Given the description of an element on the screen output the (x, y) to click on. 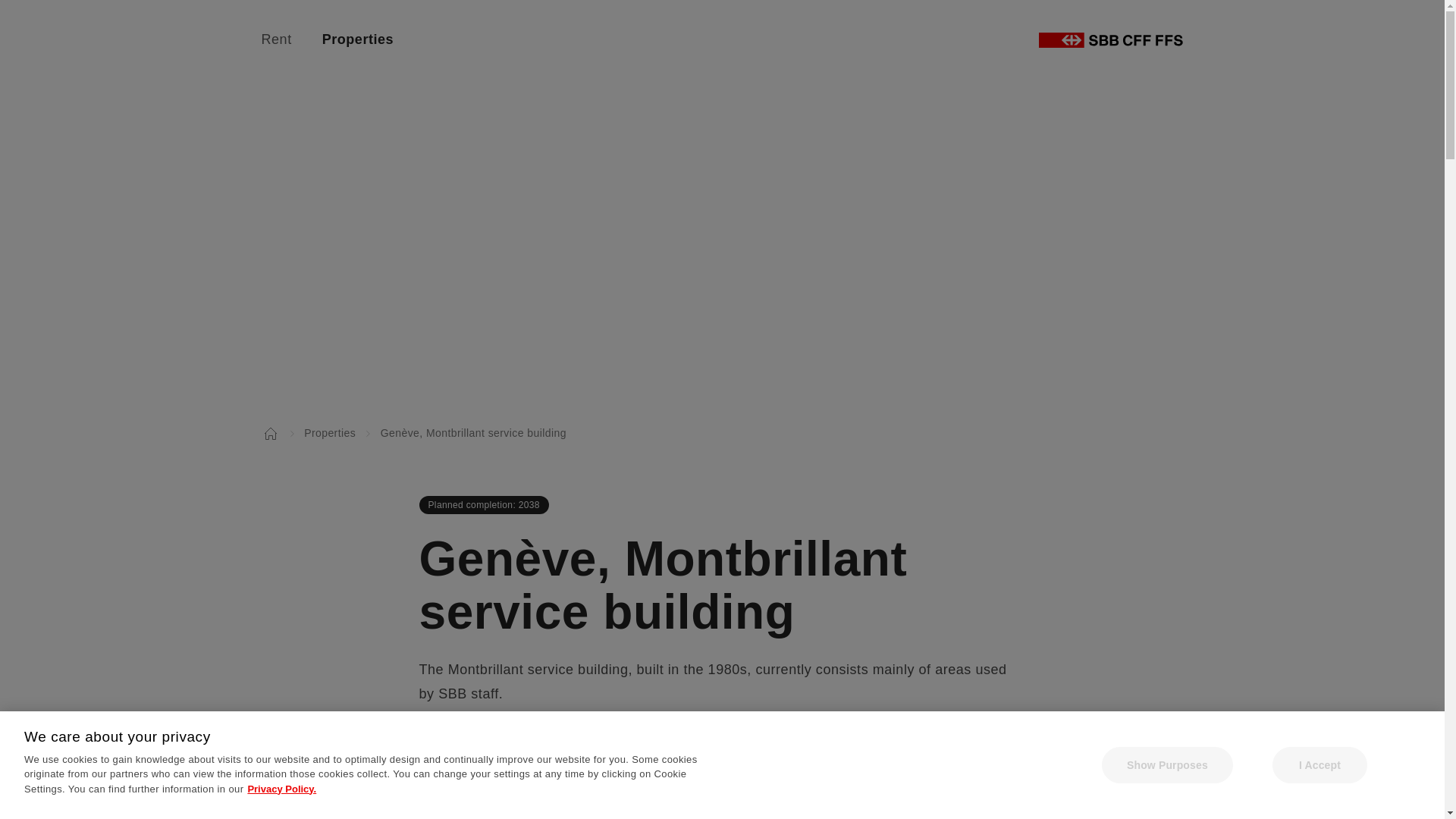
Rent (275, 38)
Properties (357, 38)
Properties (329, 432)
Home (269, 432)
SBB Immobilien Home (1110, 39)
